Given the description of an element on the screen output the (x, y) to click on. 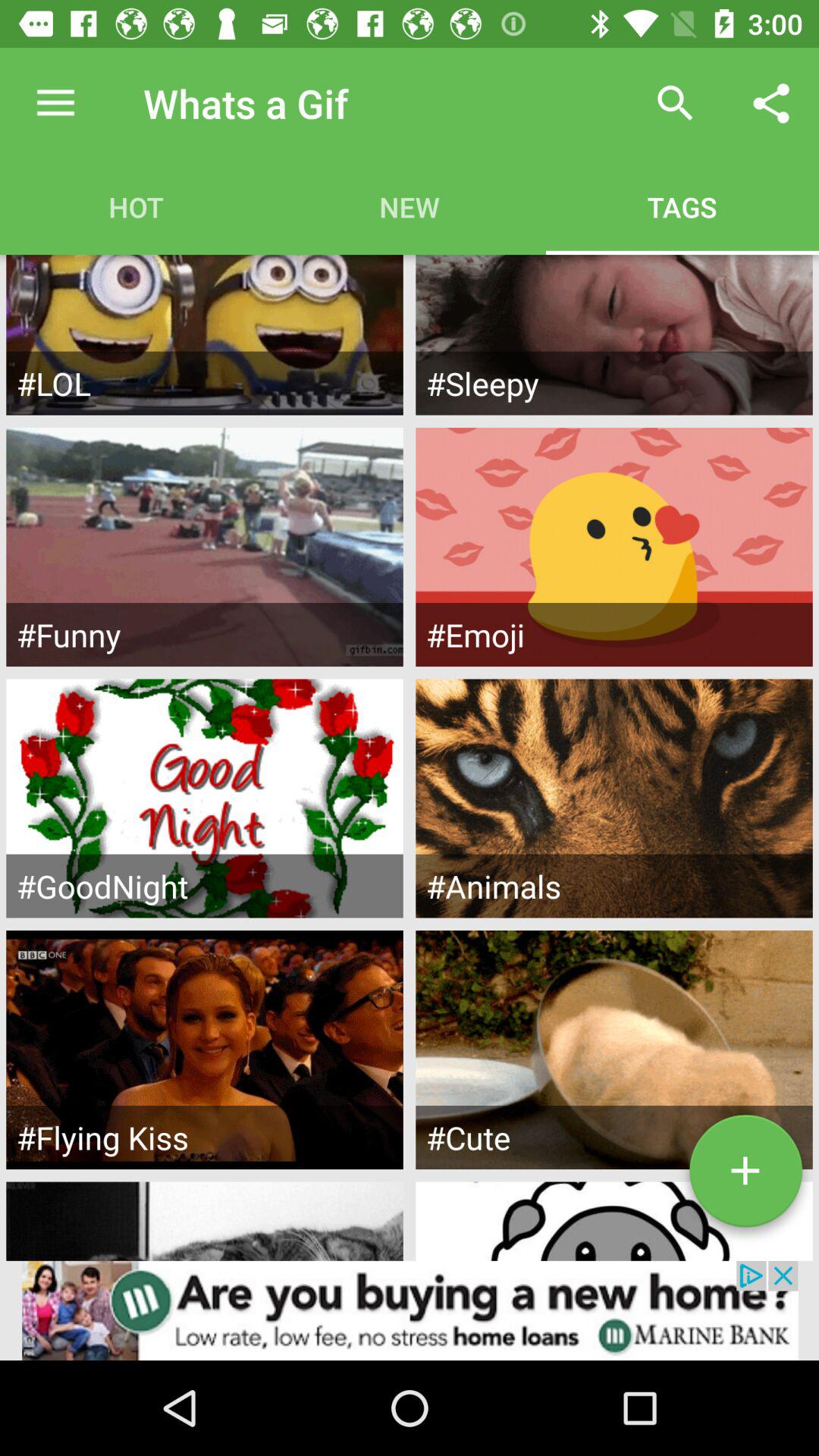
go to marine bank website (409, 1310)
